Given the description of an element on the screen output the (x, y) to click on. 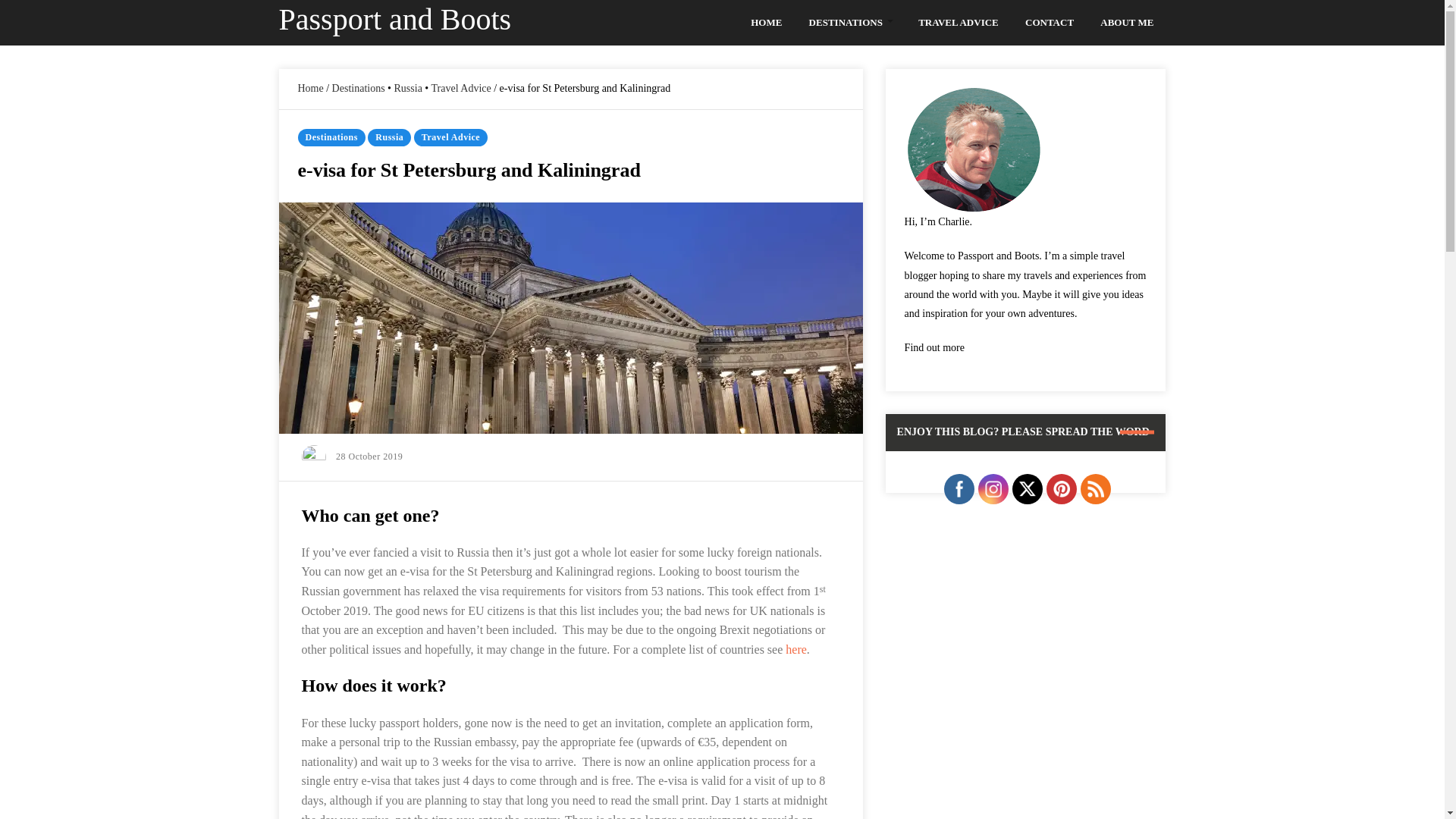
ABOUT ME (1126, 22)
CONTACT (1049, 22)
TRAVEL ADVICE (958, 22)
Destinations (358, 88)
Passport and Boots (395, 19)
Home (310, 88)
View all posts in Russia (389, 137)
View all posts in Destinations (331, 137)
DESTINATIONS (850, 22)
View all posts in Travel Advice (450, 137)
